Given the description of an element on the screen output the (x, y) to click on. 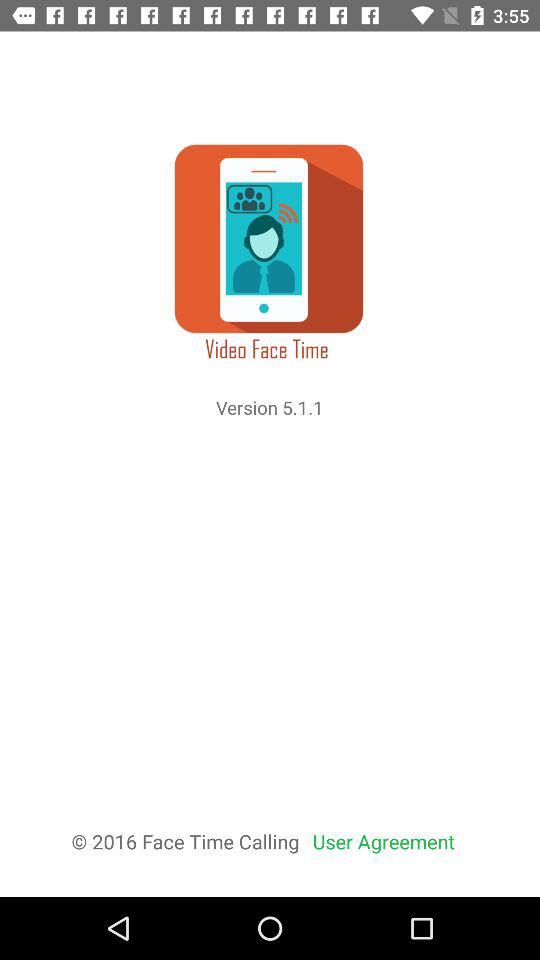
click icon next to the 2016 face time icon (383, 841)
